Given the description of an element on the screen output the (x, y) to click on. 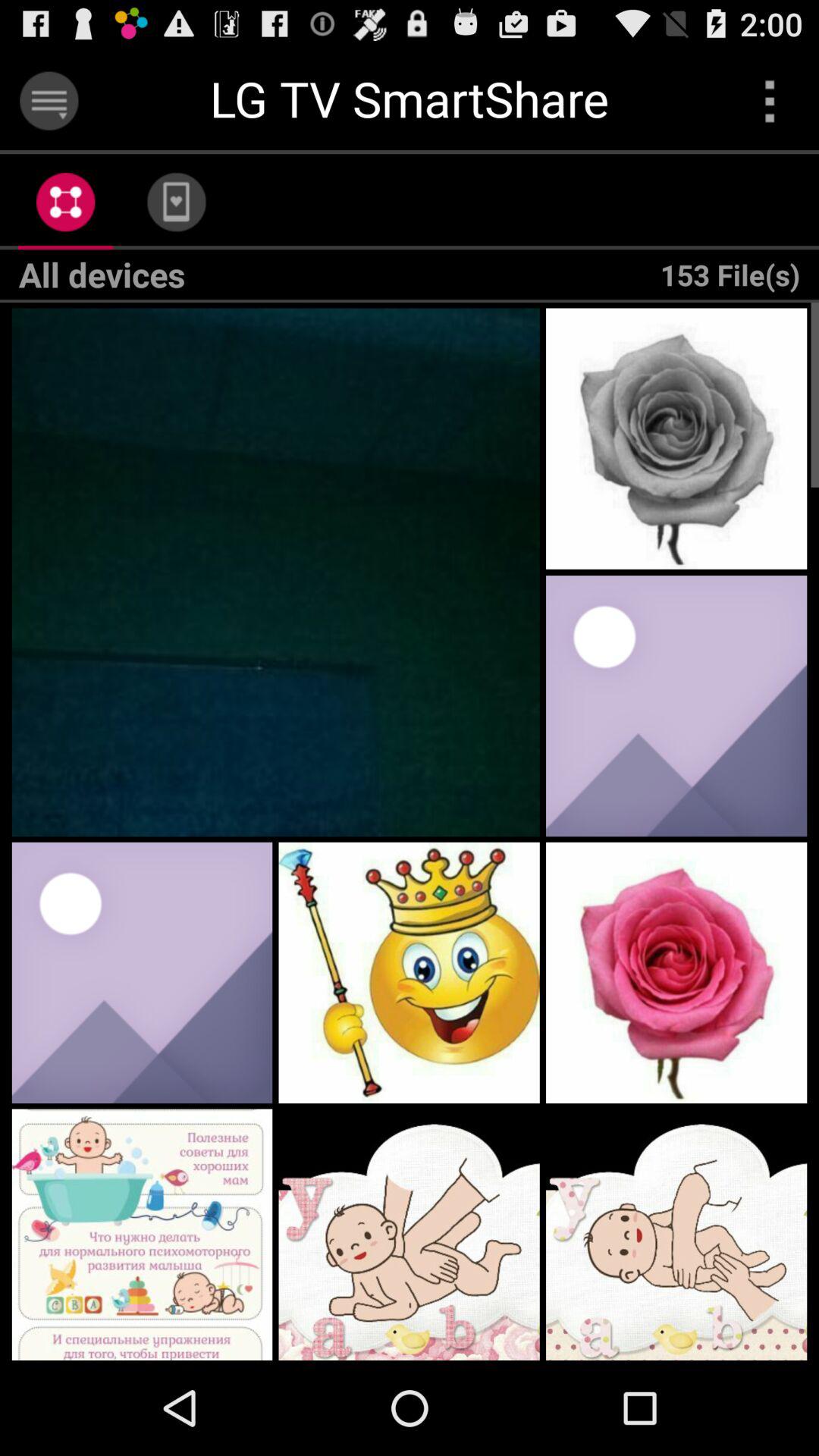
choose the app to the left of 153 file(s) (176, 201)
